Given the description of an element on the screen output the (x, y) to click on. 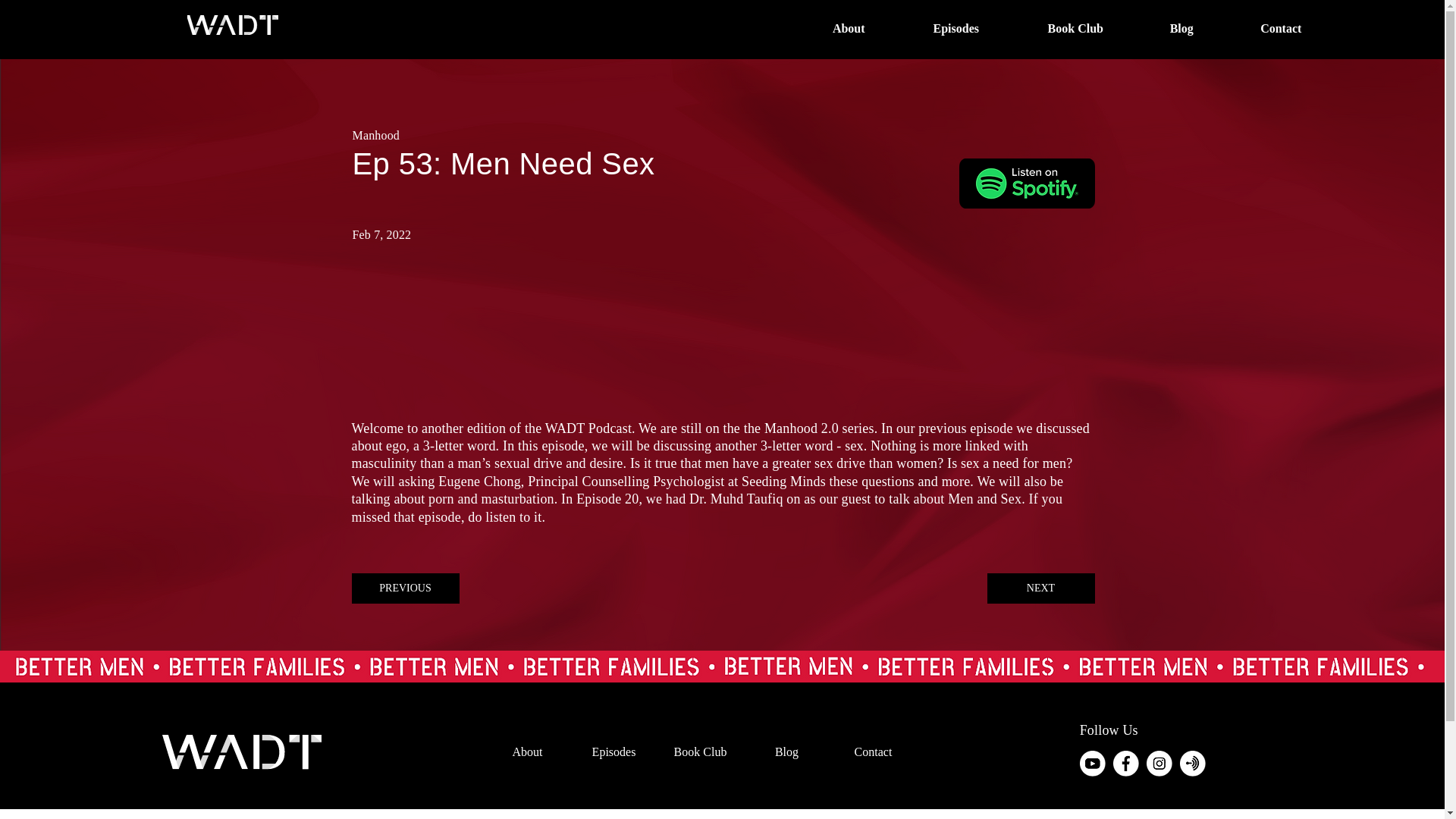
Episodes (955, 28)
Blog (785, 751)
About (848, 28)
Contact (873, 751)
Blog (1181, 28)
Contact (1280, 28)
PREVIOUS (406, 588)
Book Club (700, 751)
Book Club (1075, 28)
About (527, 751)
